Given the description of an element on the screen output the (x, y) to click on. 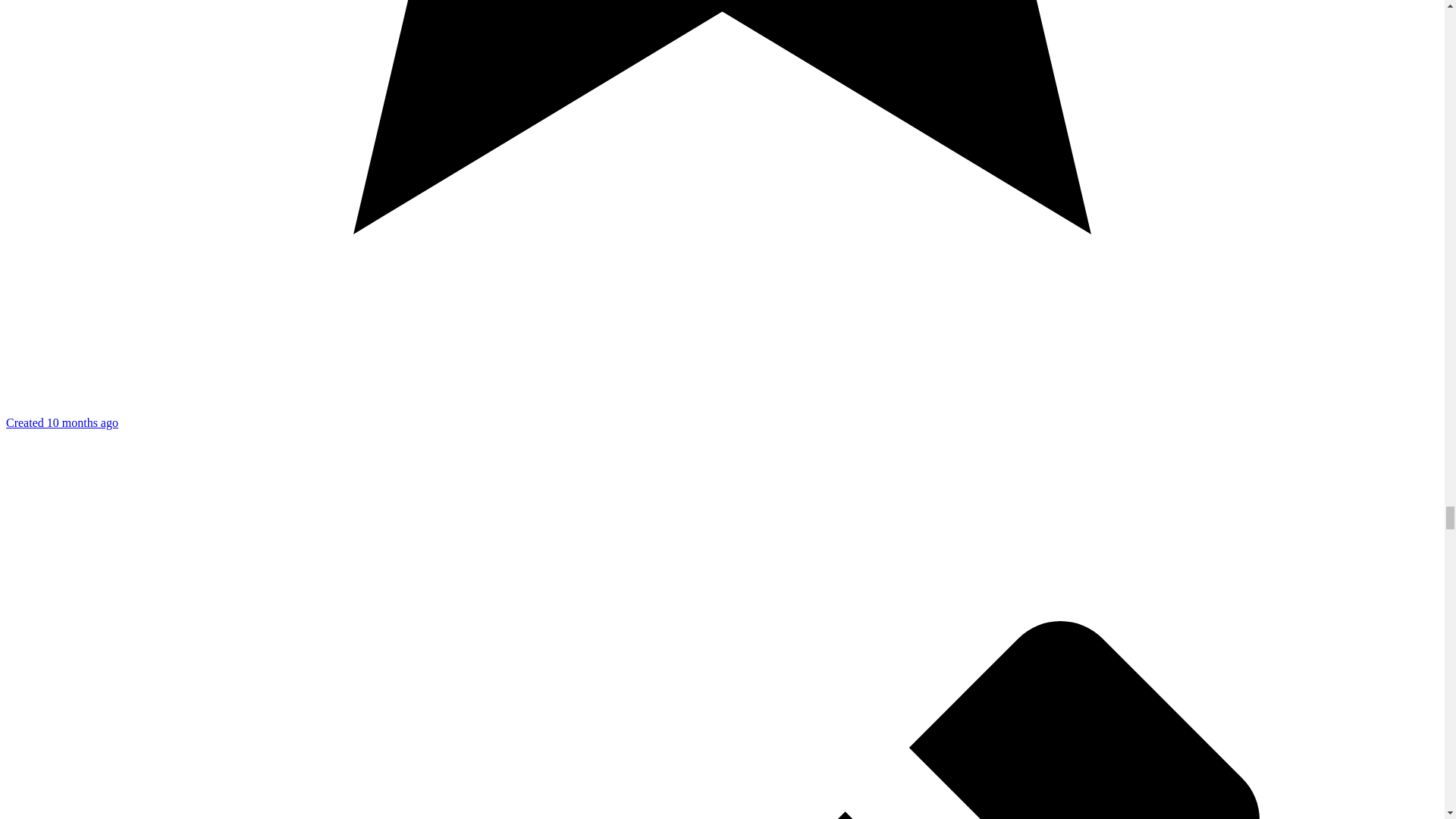
Mon, Sep 11, 2023 10:17 PM (61, 422)
